Given the description of an element on the screen output the (x, y) to click on. 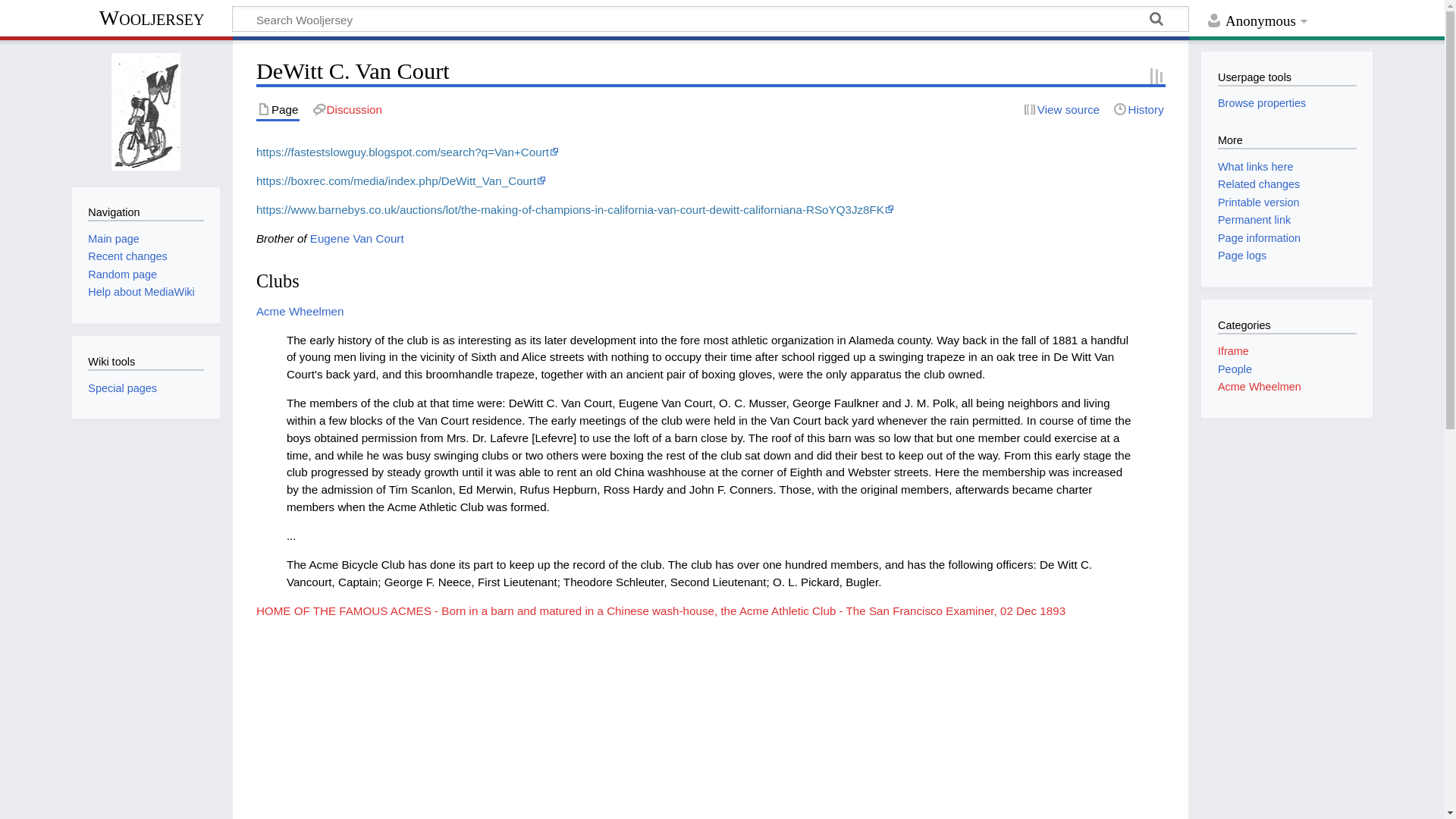
Acme Wheelmen (299, 310)
Page (277, 109)
Search the pages for this text (1155, 21)
Acme Wheelmen (299, 310)
Eugene Van Court (357, 237)
Eugene Van Court (357, 237)
View source (1061, 109)
Wooljersey (151, 19)
History (1138, 109)
Go (1155, 21)
